Given the description of an element on the screen output the (x, y) to click on. 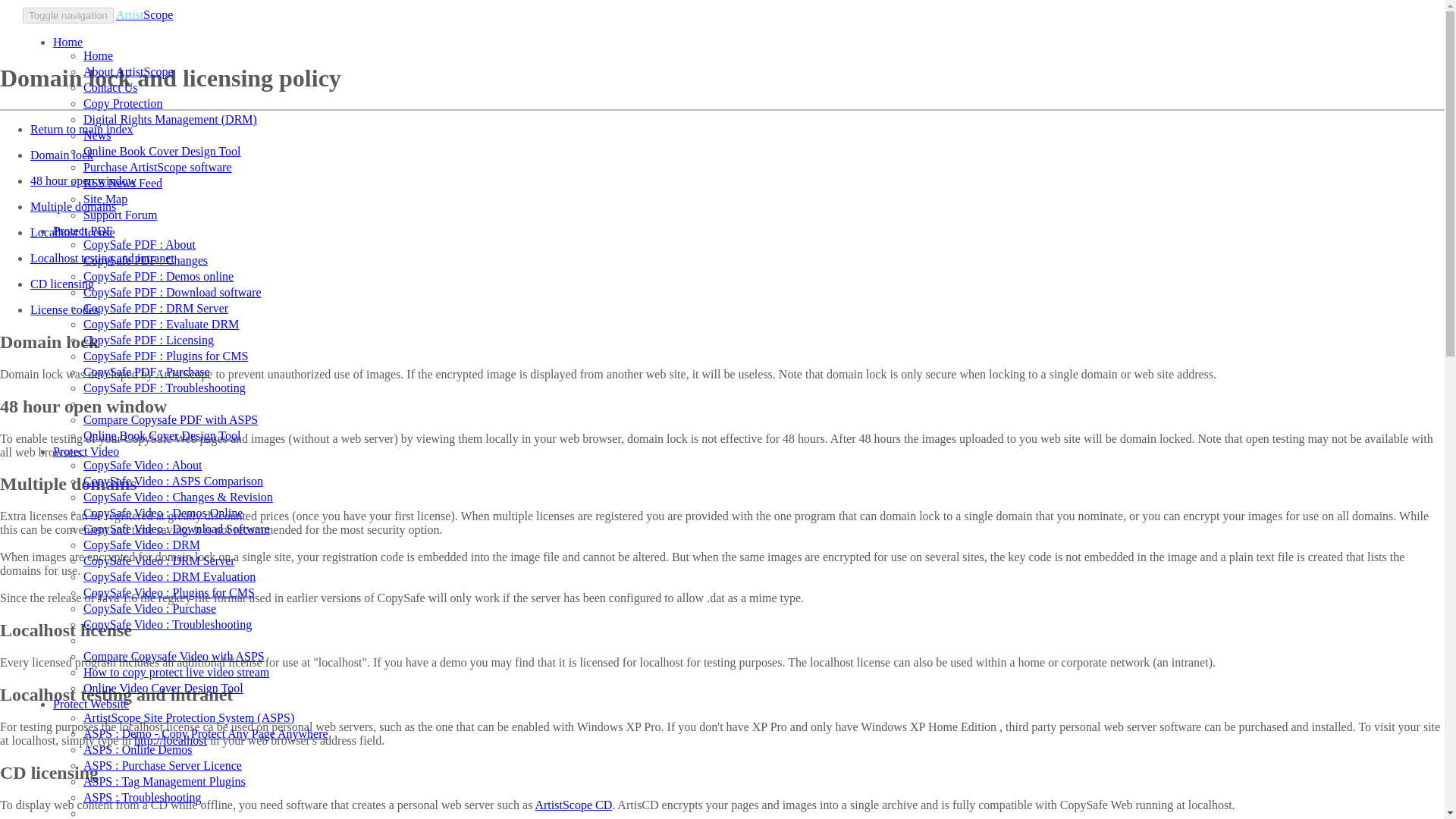
Copysafe PDF Purchase (145, 371)
About CopySafe PDF Protection (138, 244)
CopySafe Video : About (142, 464)
Toggle navigation (68, 15)
Online Book Cover Design Tool (161, 151)
CopySafe Video : Demos Online (162, 512)
CopySafe PDF : Evaluate DRM (160, 323)
Home (67, 42)
CopySafe PDF : DRM Server (155, 308)
CopySafe PDF : Plugins for CMS (164, 355)
Protect Video (85, 451)
CopySafe Video : ASPS Comparison (172, 481)
Online Book Cover Design Tool (161, 435)
Copy Protection and DRM News (96, 134)
CopySafe Video : DRM (141, 544)
